Given the description of an element on the screen output the (x, y) to click on. 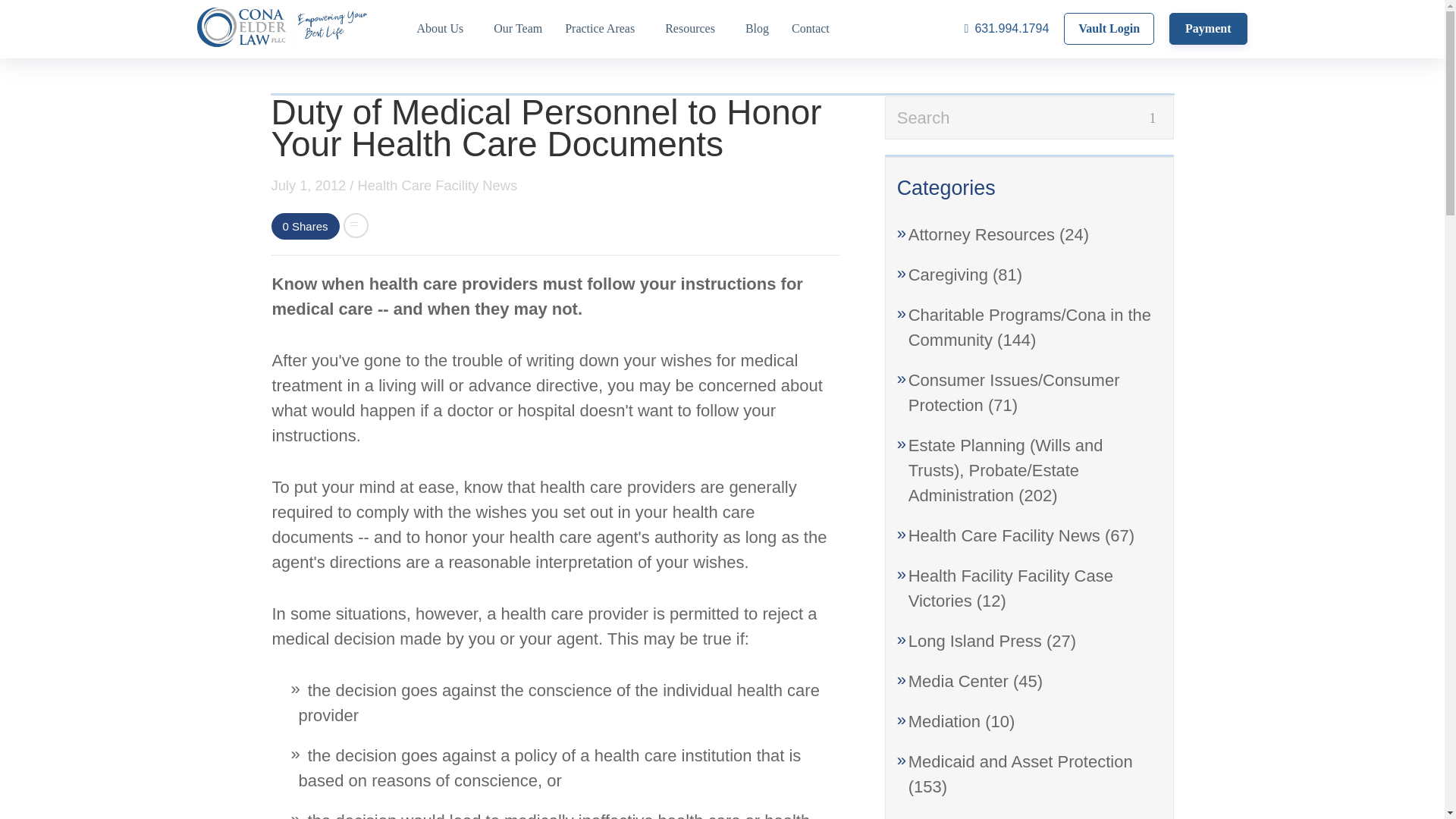
Our Team (517, 28)
Practice Areas (603, 28)
About Us (442, 28)
